Given the description of an element on the screen output the (x, y) to click on. 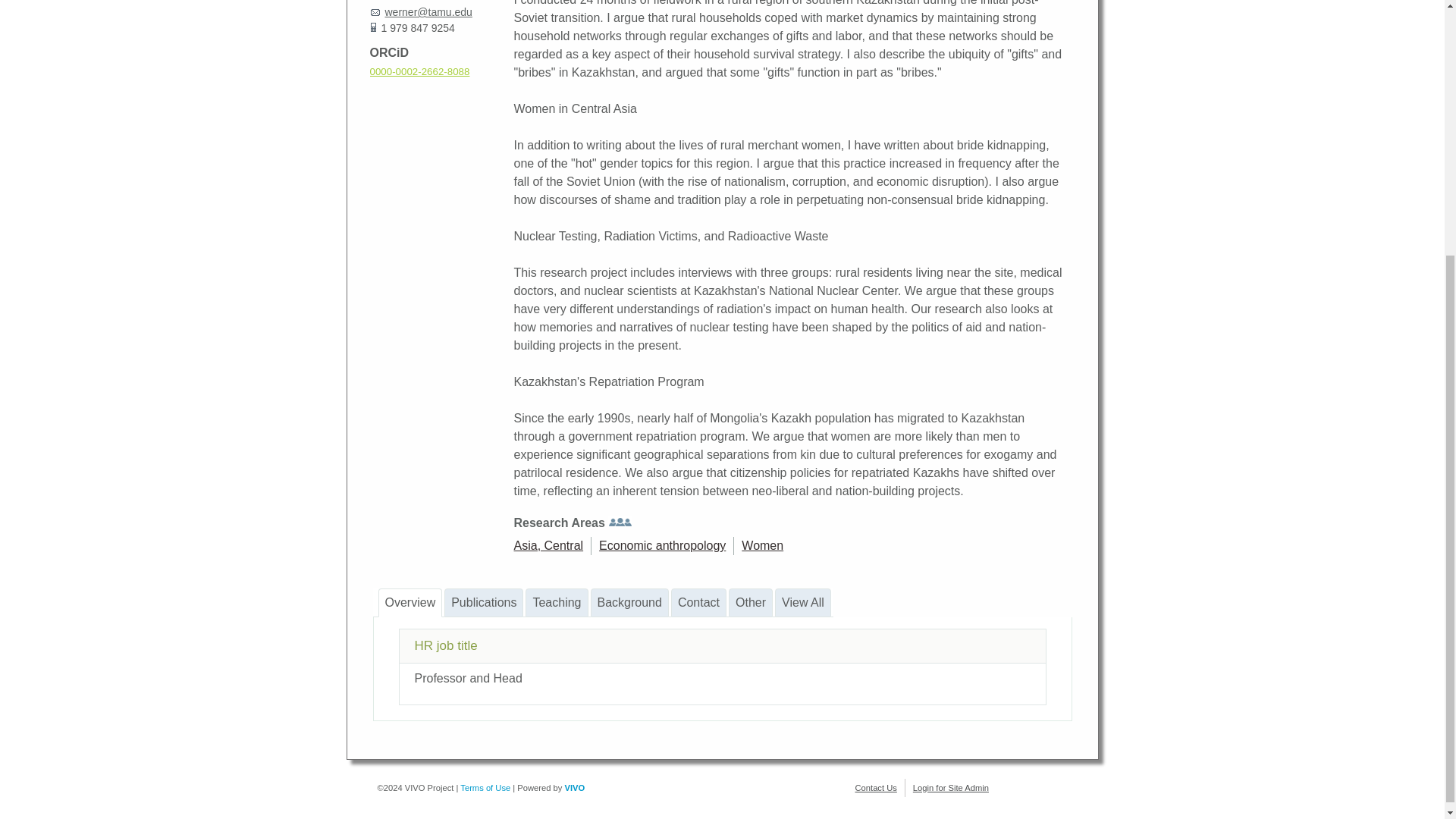
concept name (548, 545)
email (428, 11)
concept name (762, 545)
concept name (661, 545)
Asia, Central (548, 545)
0000-0002-2662-8088 (419, 71)
Economic anthropology (661, 545)
Women (762, 545)
